Given the description of an element on the screen output the (x, y) to click on. 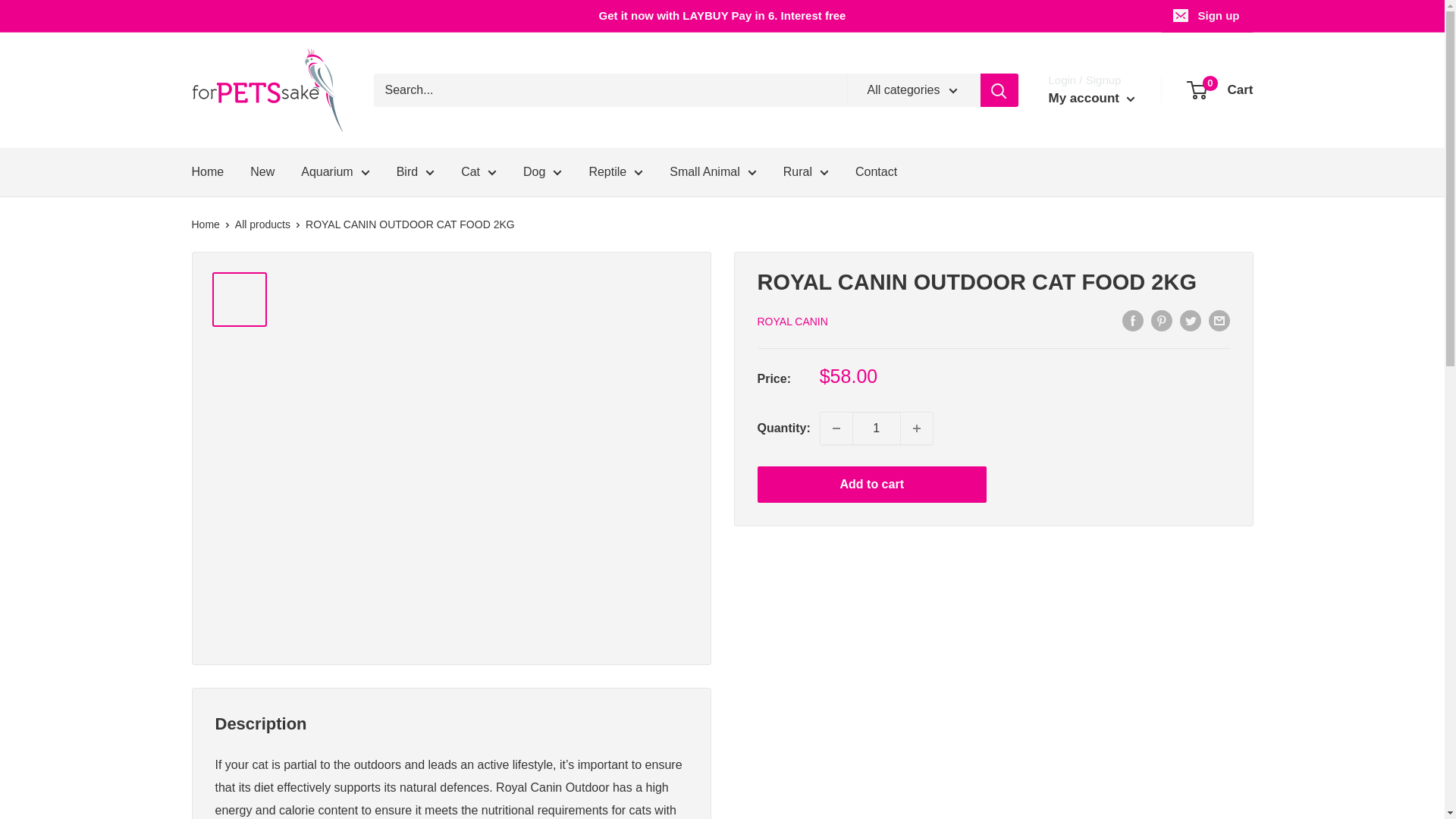
Increase quantity by 1 (917, 428)
Decrease quantity by 1 (836, 428)
Sign up (1206, 15)
1 (876, 428)
